Given the description of an element on the screen output the (x, y) to click on. 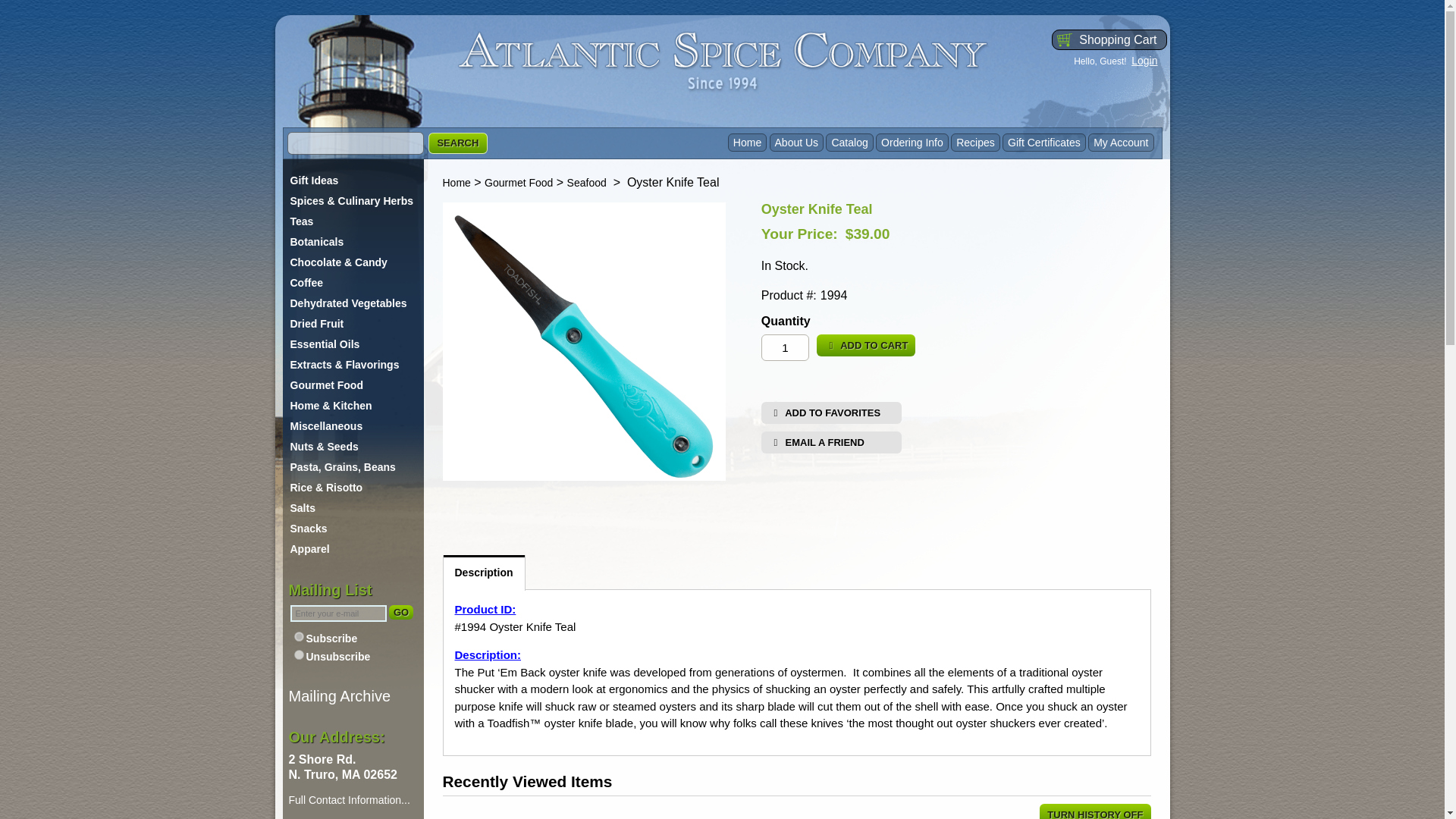
Dehydrated Vegetables (352, 302)
Mailing Archive (339, 695)
Gift Certificates (1044, 142)
Teas (352, 220)
Pasta, Grains, Beans (352, 466)
Coffee (352, 282)
Gourmet Food (352, 384)
GO (400, 612)
Ordering Info (912, 142)
Gift Ideas (352, 180)
